Given the description of an element on the screen output the (x, y) to click on. 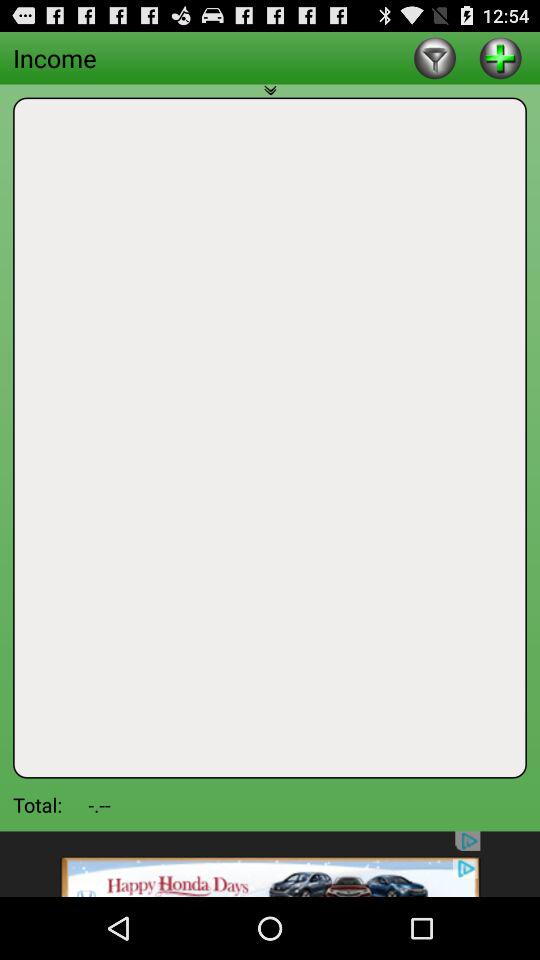
view advertisement (270, 864)
